Given the description of an element on the screen output the (x, y) to click on. 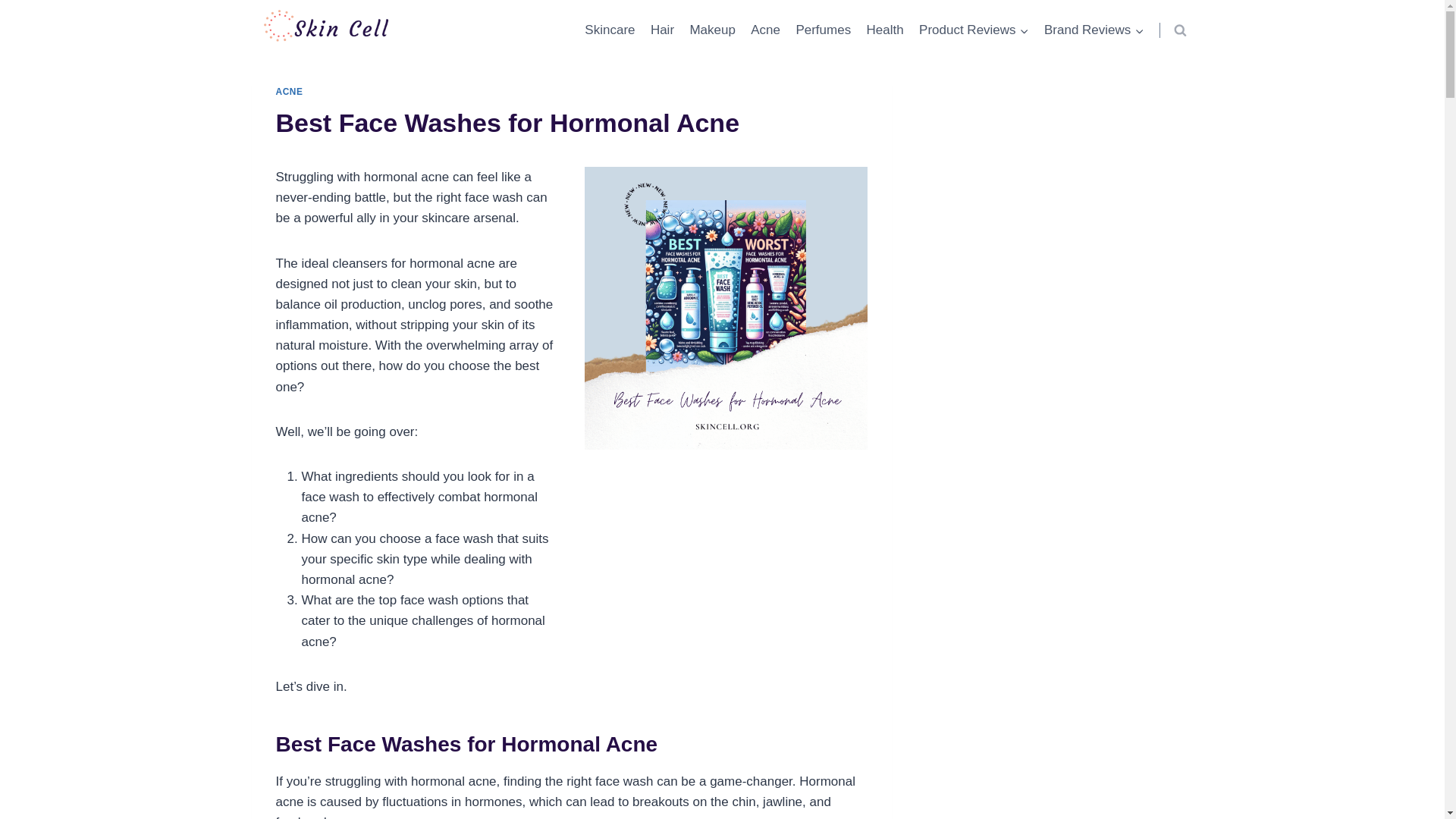
Product Reviews (973, 30)
Brand Reviews (1093, 30)
Acne (764, 30)
ACNE (289, 91)
Perfumes (823, 30)
Health (885, 30)
Skincare (609, 30)
Hair (662, 30)
Makeup (711, 30)
